Given the description of an element on the screen output the (x, y) to click on. 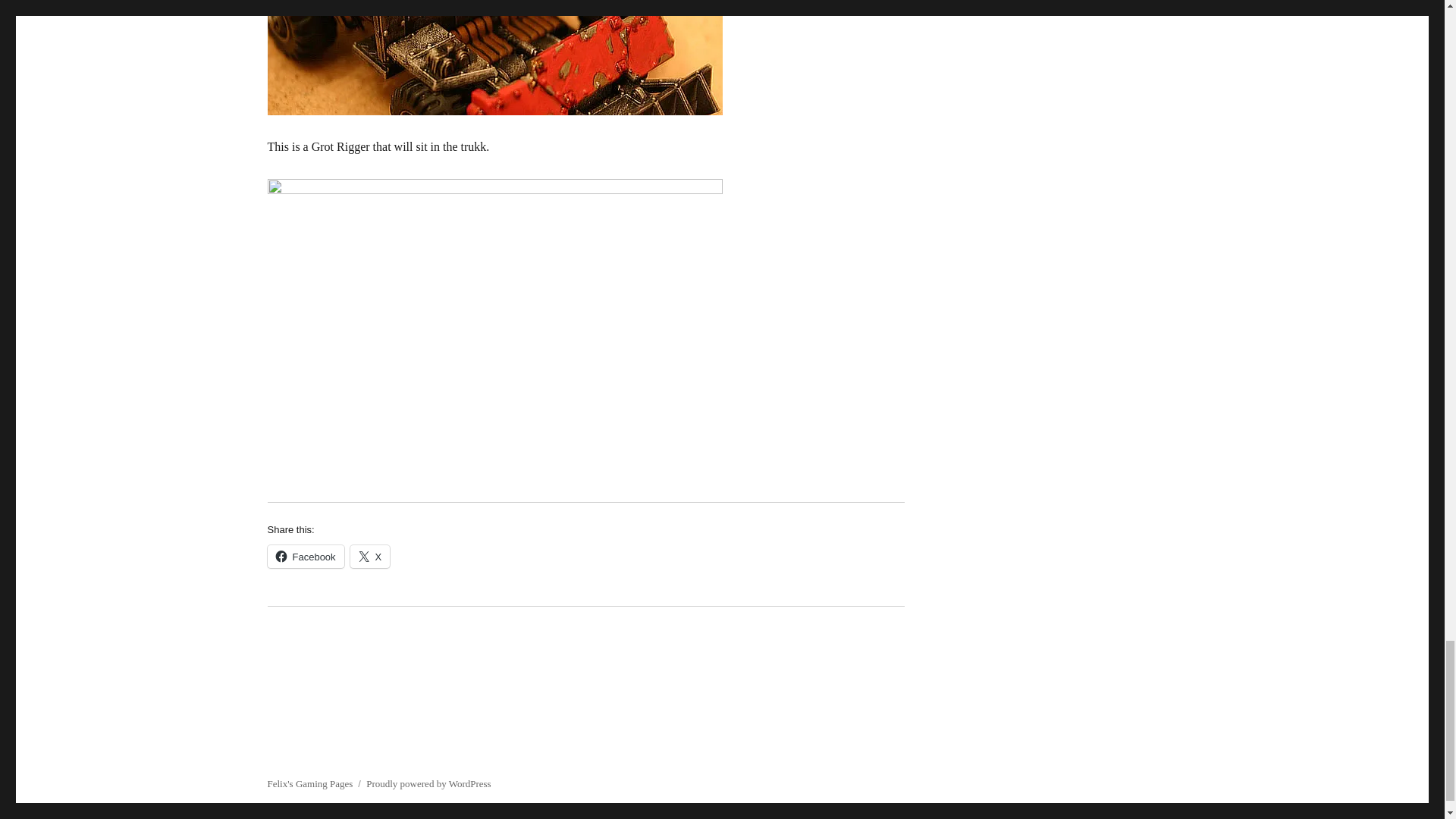
Click to share on X (370, 556)
Facebook (304, 556)
Click to share on Facebook (304, 556)
X (370, 556)
